Given the description of an element on the screen output the (x, y) to click on. 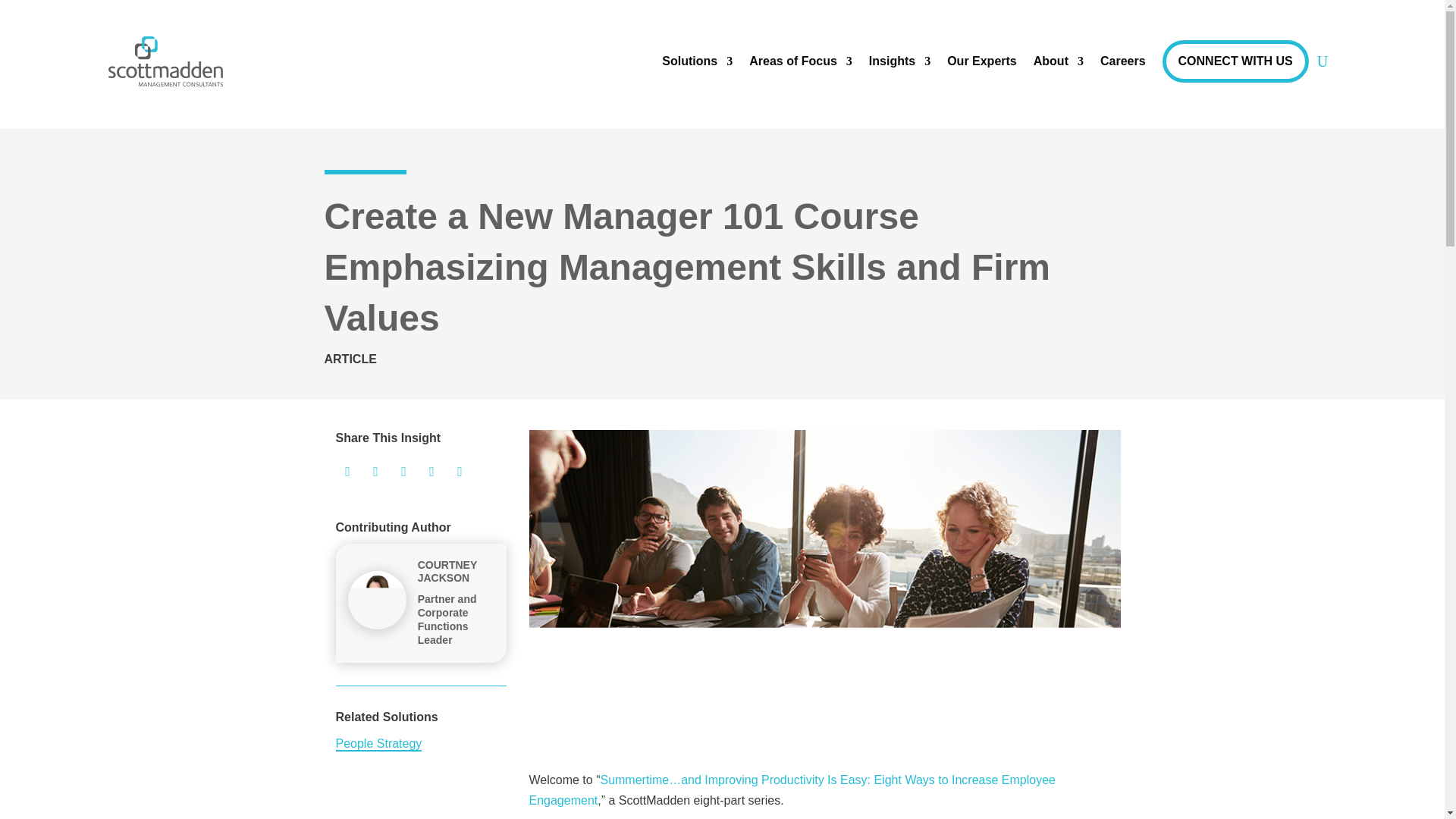
Solutions (697, 61)
Areas of Focus (800, 61)
